Given the description of an element on the screen output the (x, y) to click on. 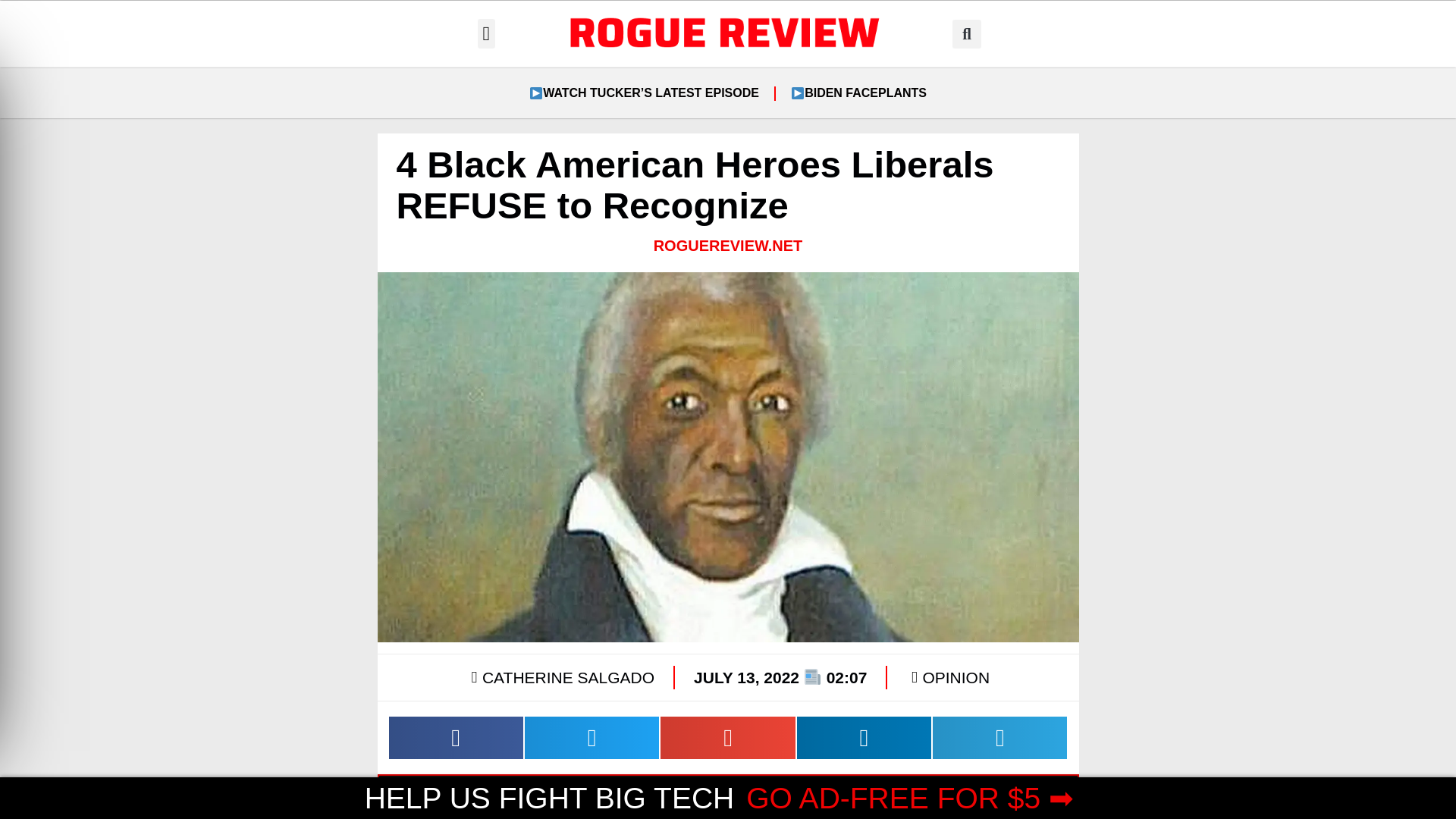
CATHERINE SALGADO (559, 677)
OPINION (955, 677)
BIDEN FACEPLANTS (859, 93)
